Given the description of an element on the screen output the (x, y) to click on. 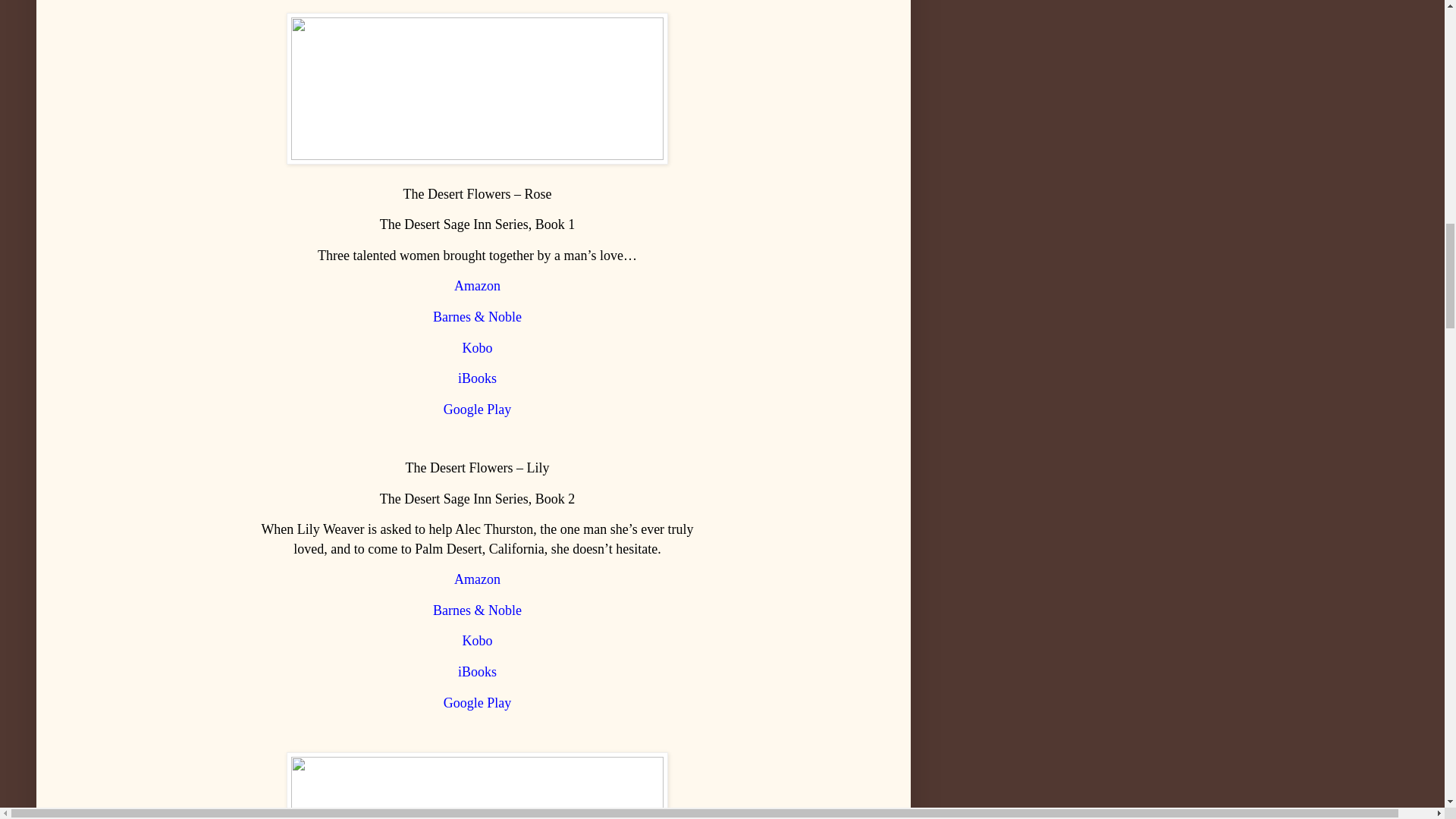
Google Play (478, 702)
Kobo (478, 640)
Amazon (477, 286)
Google Play (478, 409)
iBooks (477, 378)
Amazon (477, 579)
Kobo (478, 348)
iBooks (477, 671)
